Given the description of an element on the screen output the (x, y) to click on. 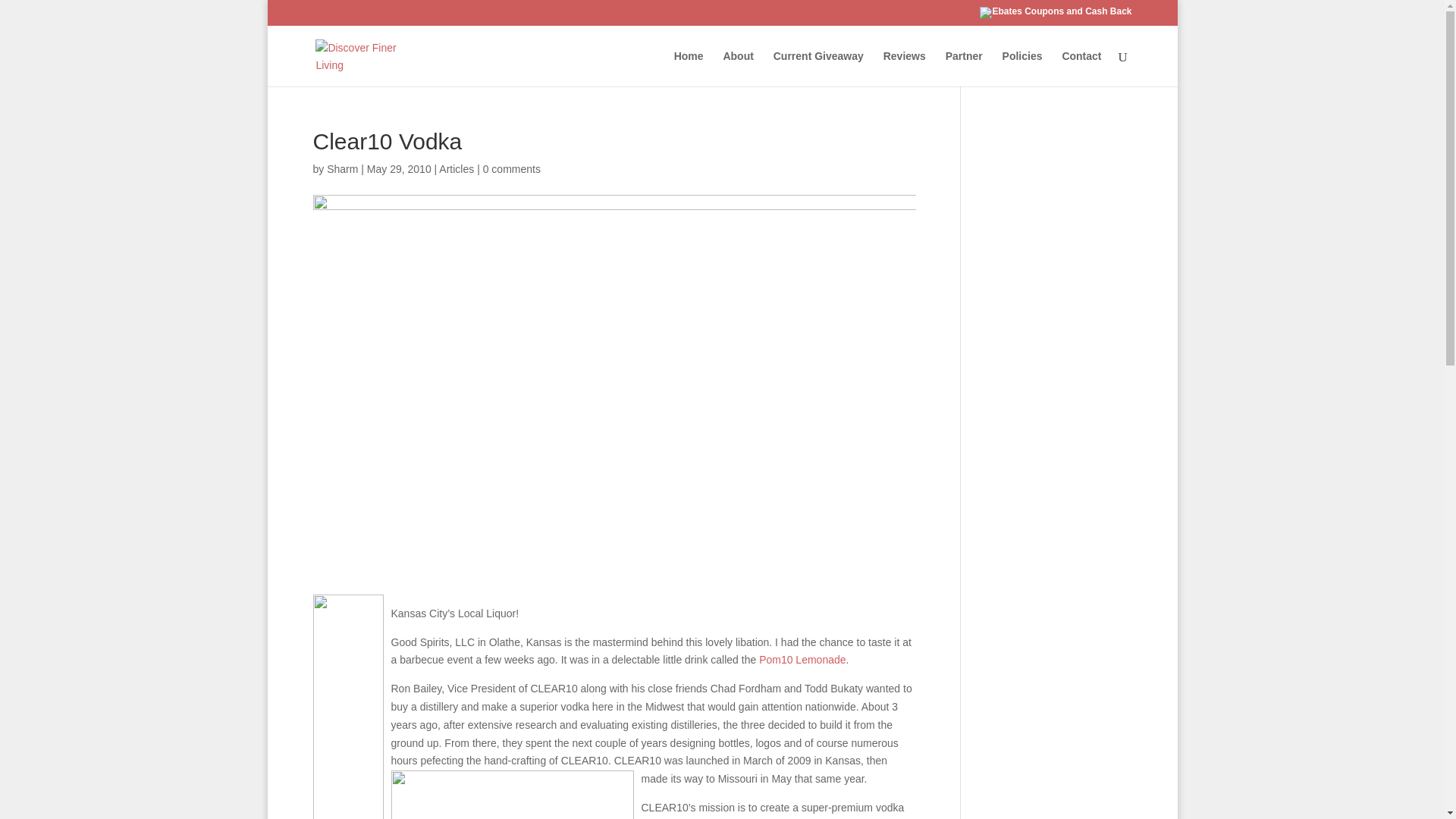
Ebates Coupons and Cash Back (1055, 15)
Current Giveaway (818, 68)
0 comments (511, 168)
Home (688, 68)
Ebates Coupons and Cash Back (1055, 12)
Reviews (904, 68)
Posts by Sharm (342, 168)
Policies (1022, 68)
About (737, 68)
Contact (1080, 68)
Articles (456, 168)
Pom10 Lemonade (801, 659)
Sharm (342, 168)
Partner (963, 68)
